Given the description of an element on the screen output the (x, y) to click on. 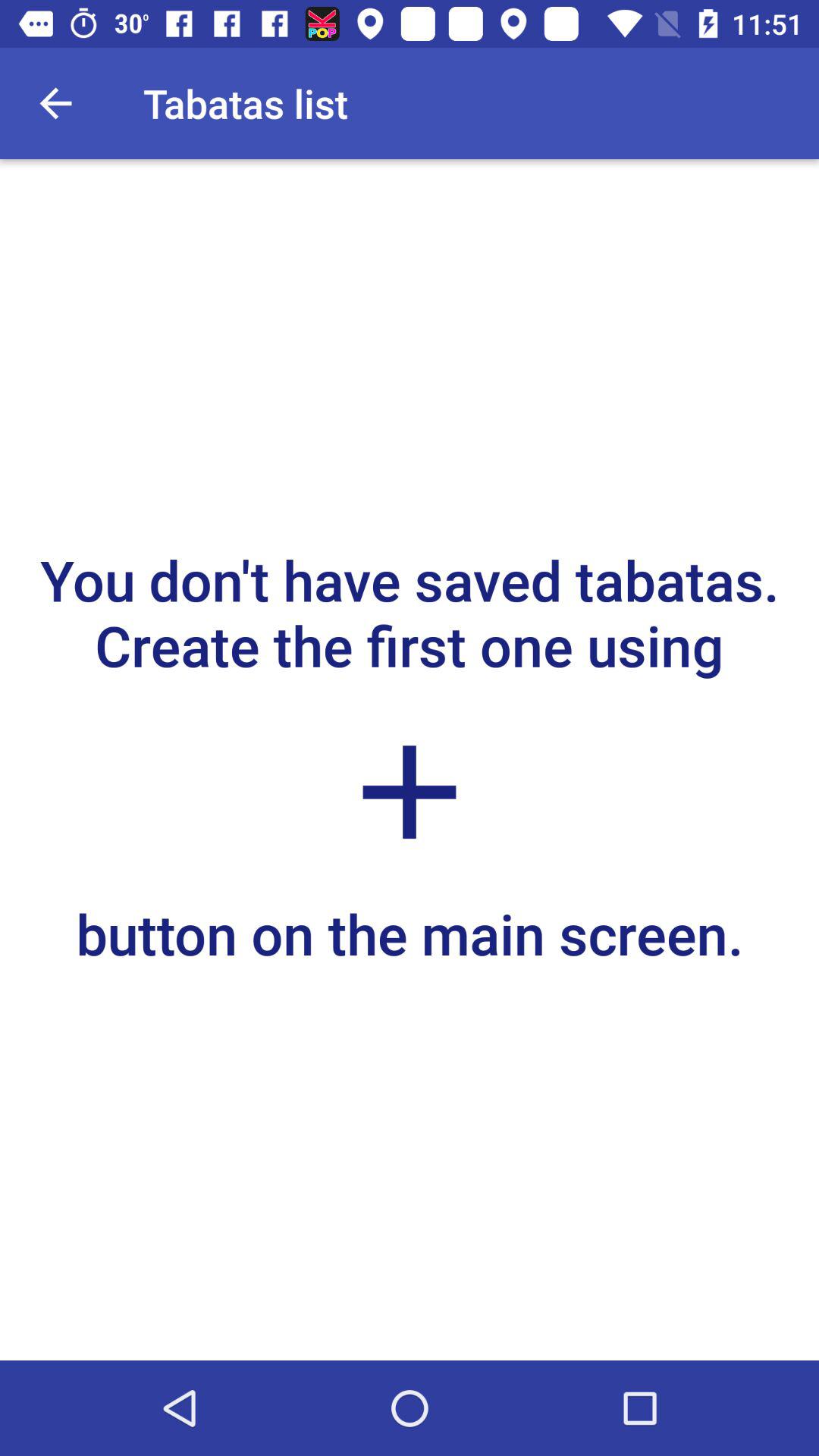
turn on icon above button on the (409, 791)
